Given the description of an element on the screen output the (x, y) to click on. 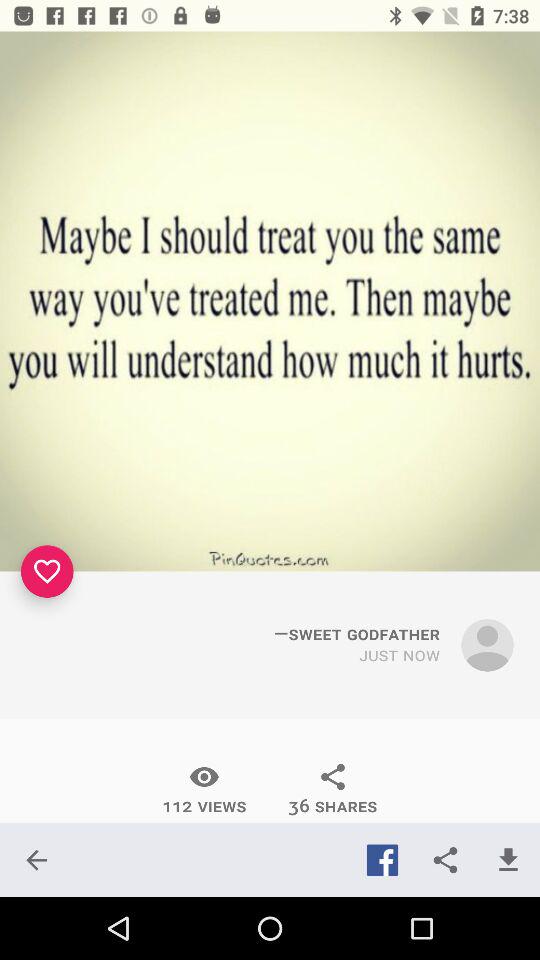
choose the icon next to 112 views (36, 859)
